Given the description of an element on the screen output the (x, y) to click on. 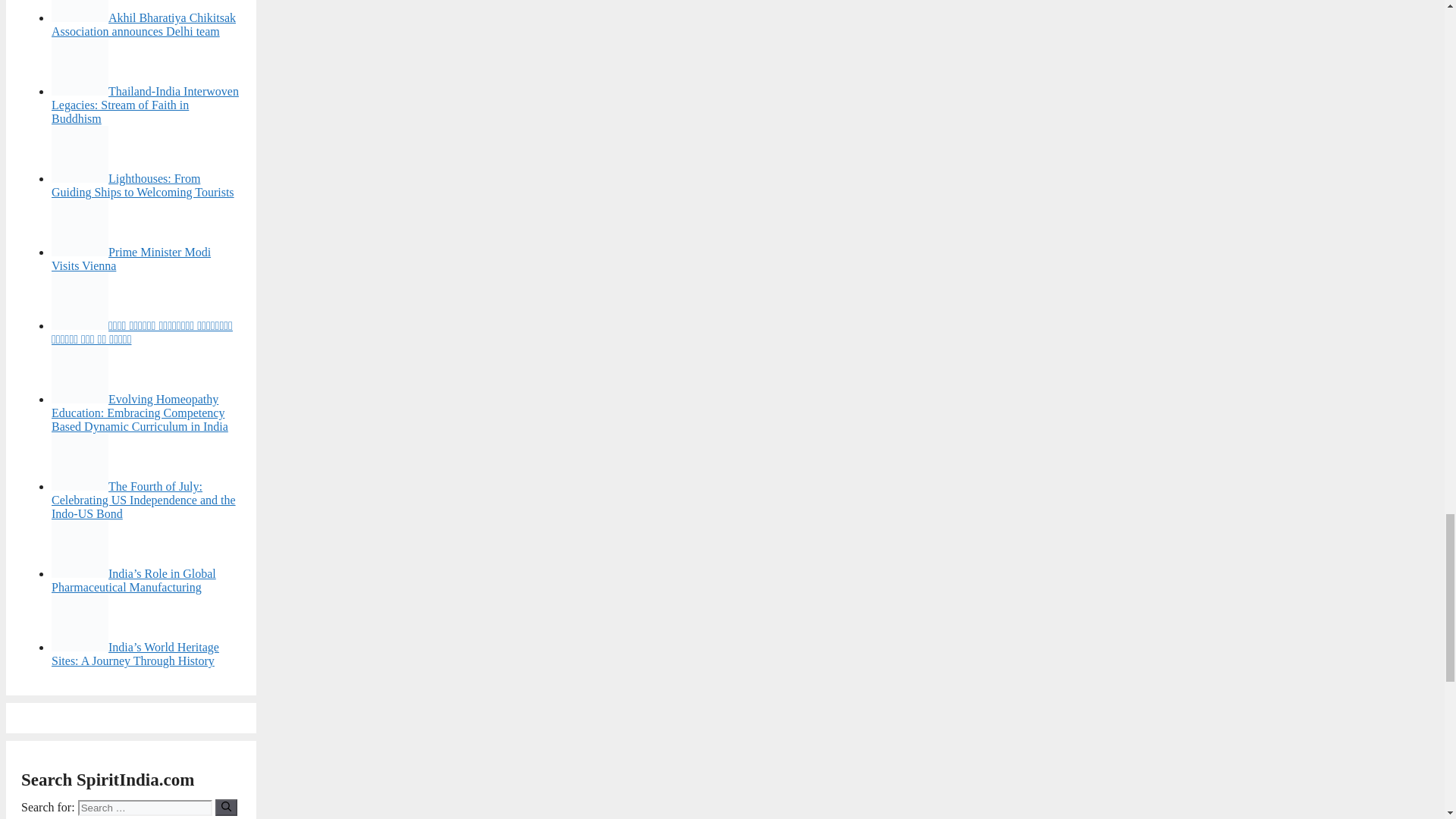
Search for: (145, 807)
